Given the description of an element on the screen output the (x, y) to click on. 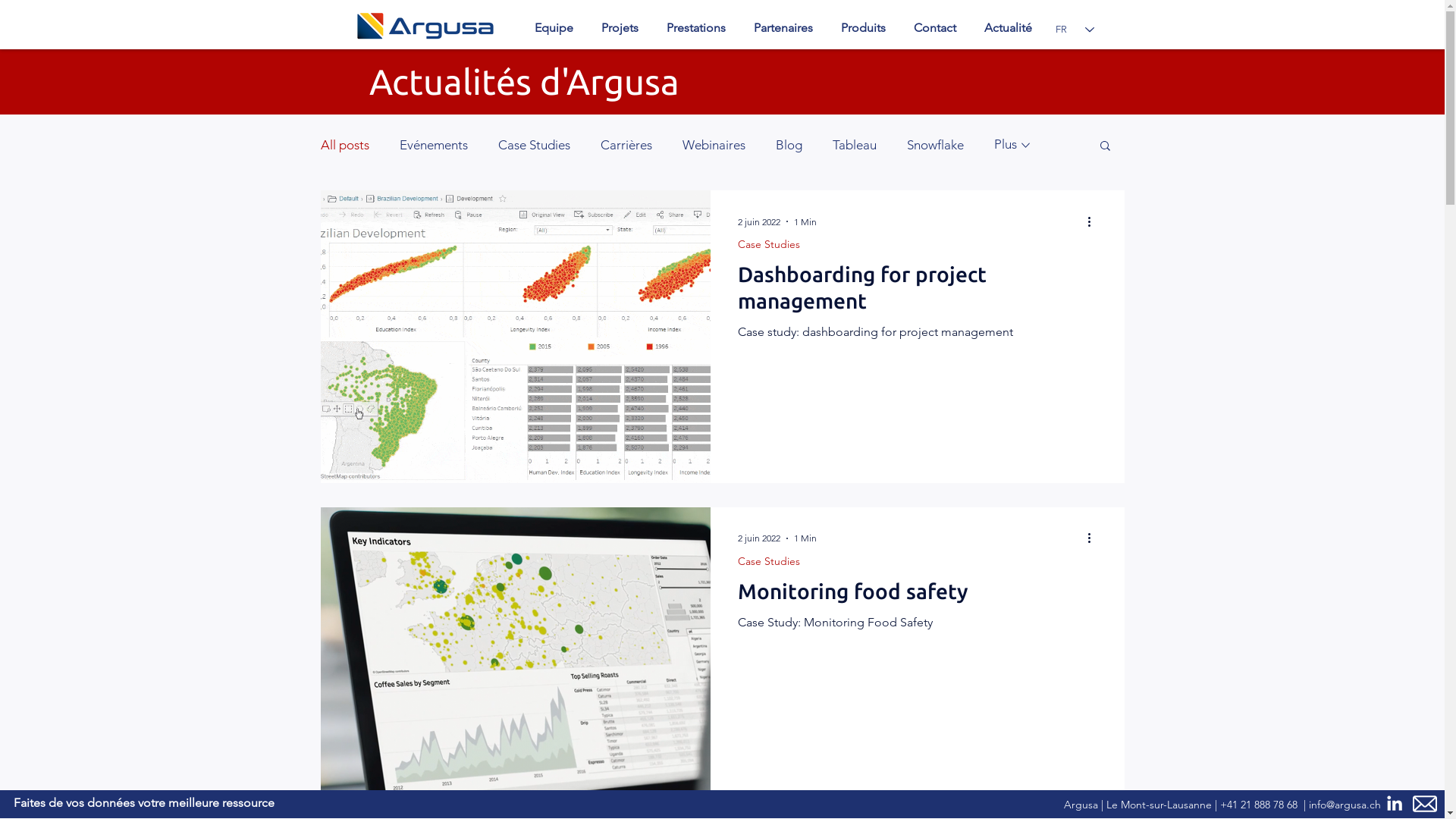
All posts Element type: text (344, 144)
Argusa Element type: hover (425, 25)
Case Studies Element type: text (768, 244)
Partenaires Element type: text (783, 27)
Case Studies Element type: text (768, 561)
info@argusa.ch Element type: text (1344, 804)
Monitoring food safety Element type: text (916, 594)
Case Studies Element type: text (533, 144)
Snowflake Element type: text (934, 144)
Dashboarding for project management Element type: text (916, 291)
Contact Element type: text (934, 27)
Projets Element type: text (619, 27)
Blog Element type: text (788, 144)
Equipe Element type: text (553, 27)
Prestations Element type: text (695, 27)
Tableau Element type: text (854, 144)
Webinaires Element type: text (713, 144)
